Given the description of an element on the screen output the (x, y) to click on. 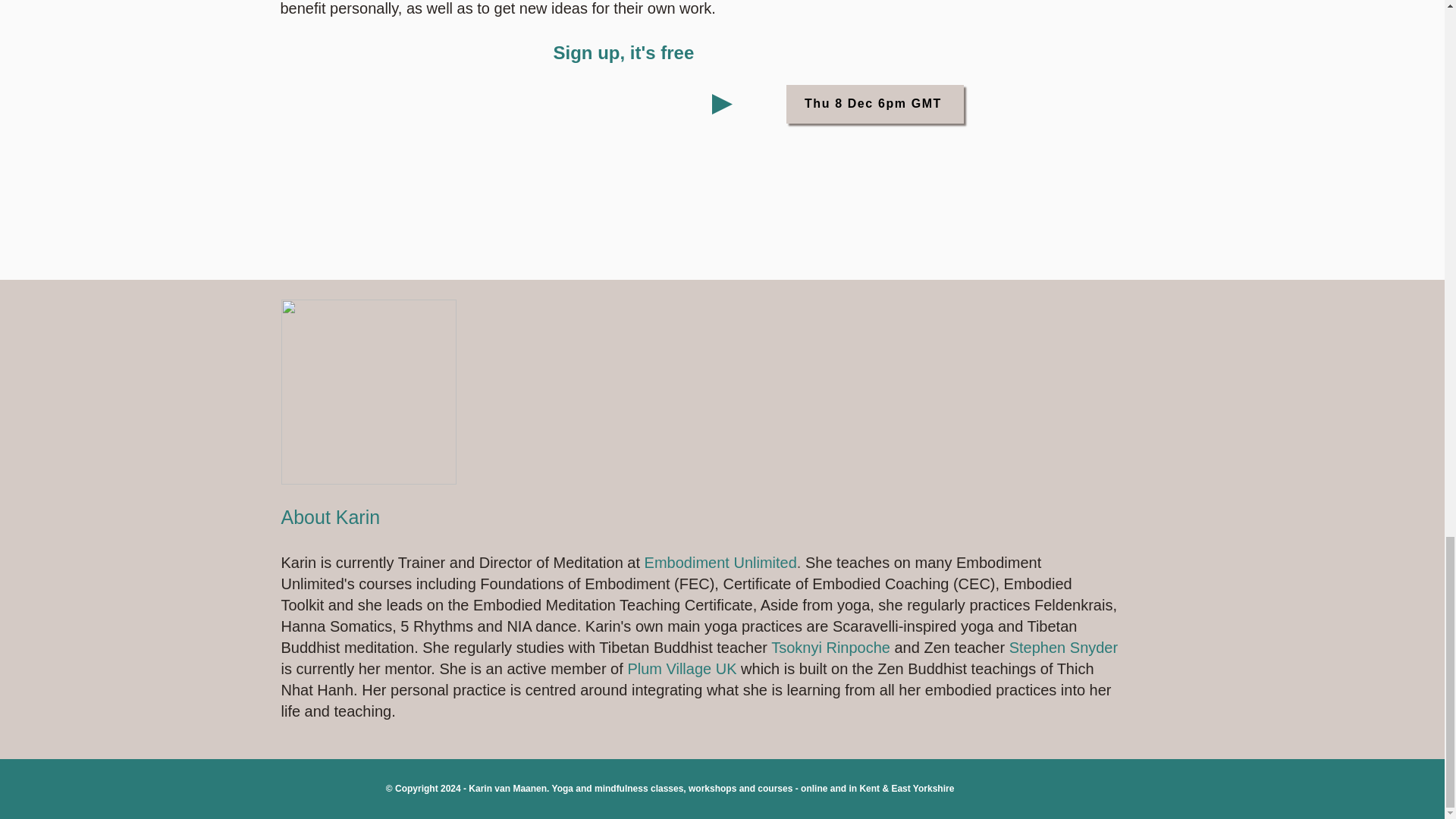
Thu 8 Dec 6pm GMT (874, 104)
Embodiment Unlimited (720, 562)
Tsoknyi Rinpoche (830, 647)
Stephen Snyder (1063, 647)
